Given the description of an element on the screen output the (x, y) to click on. 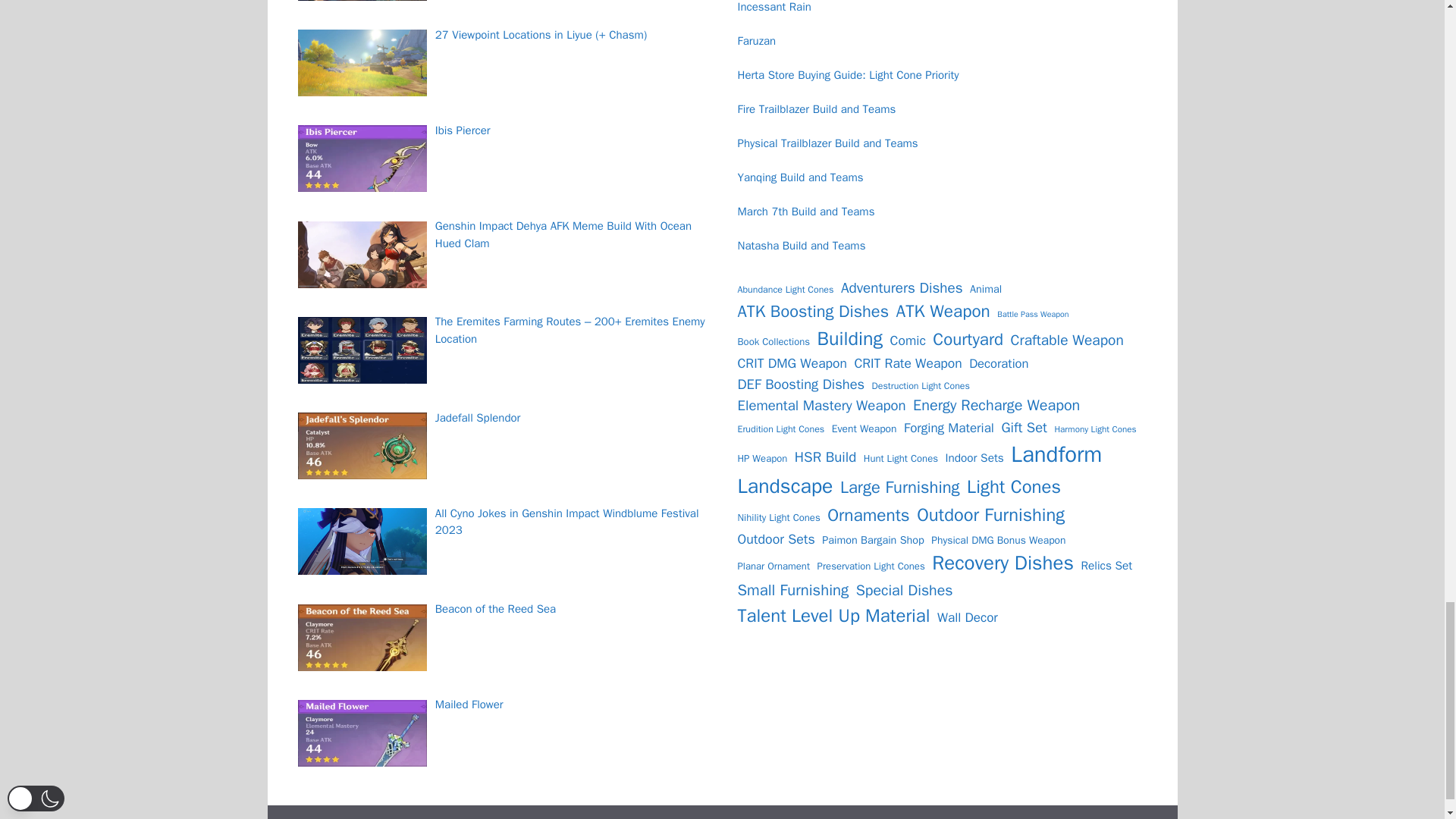
Ibis Piercer (361, 158)
Genshin Impact Dehya AFK Meme Build With Ocean Hued Clam (361, 254)
